Given the description of an element on the screen output the (x, y) to click on. 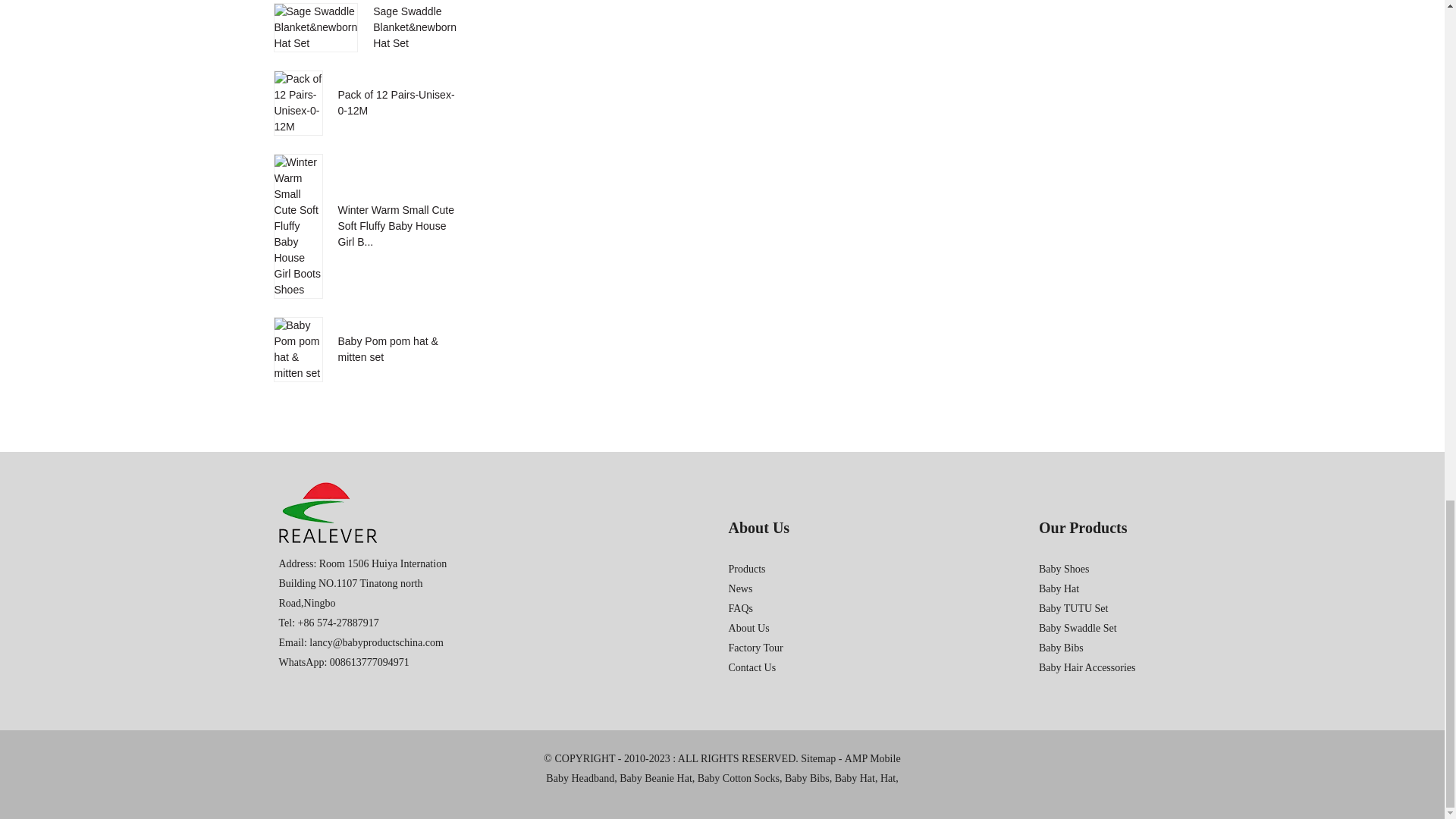
Baby Headband (580, 778)
Baby Beanie Hat (656, 778)
Baby Hat (854, 778)
Baby Cotton Socks (737, 778)
Baby Bibs (806, 778)
